Given the description of an element on the screen output the (x, y) to click on. 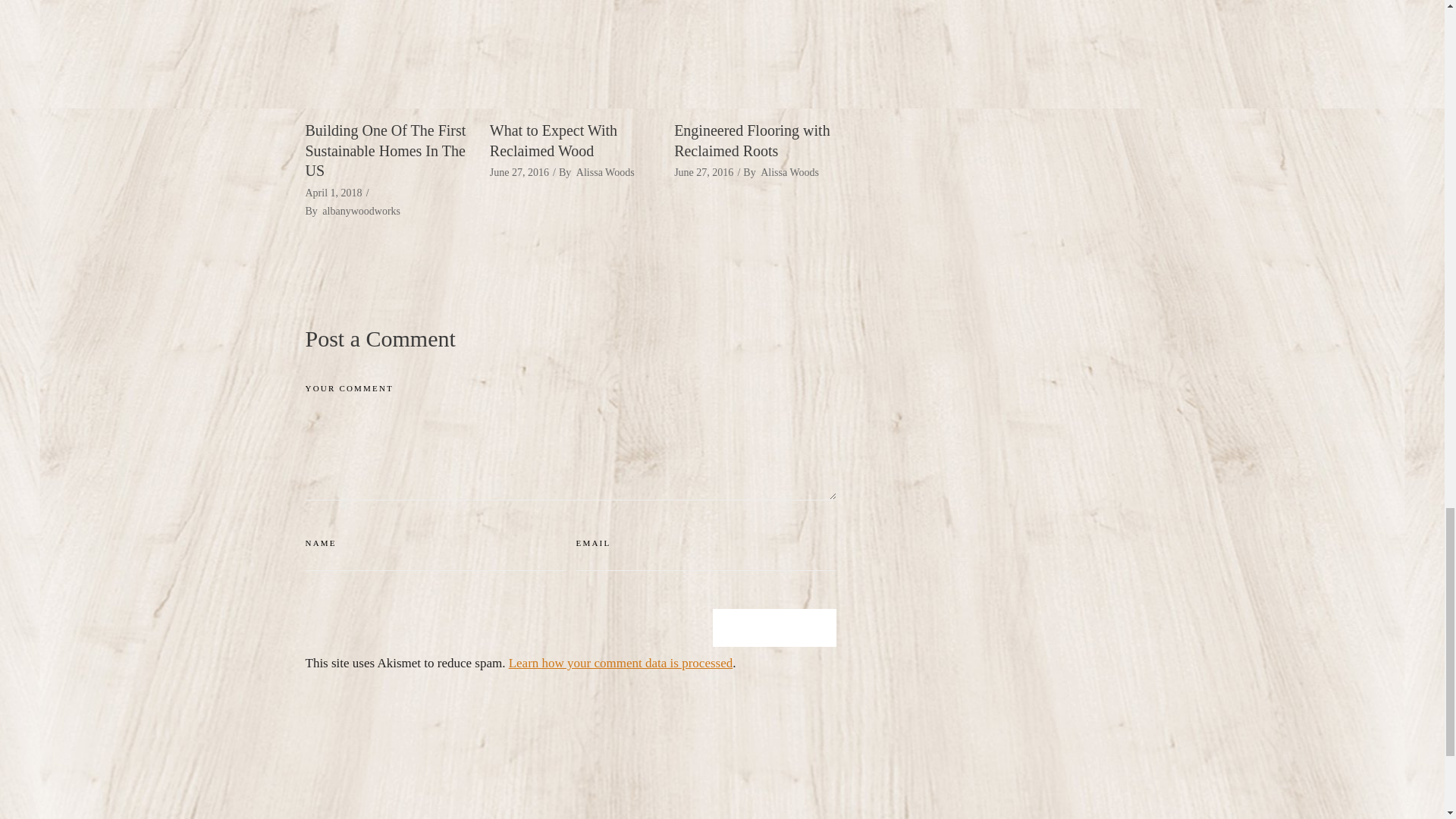
Engineered Flooring with Reclaimed Roots (751, 140)
Building One Of The First Sustainable Homes In The US (384, 53)
Building One Of The First Sustainable Homes In The US (384, 150)
What to Expect With Reclaimed Wood (569, 53)
Engineered Flooring with Reclaimed Roots (754, 53)
What to Expect With Reclaimed Wood (553, 140)
Submit (774, 628)
